Given the description of an element on the screen output the (x, y) to click on. 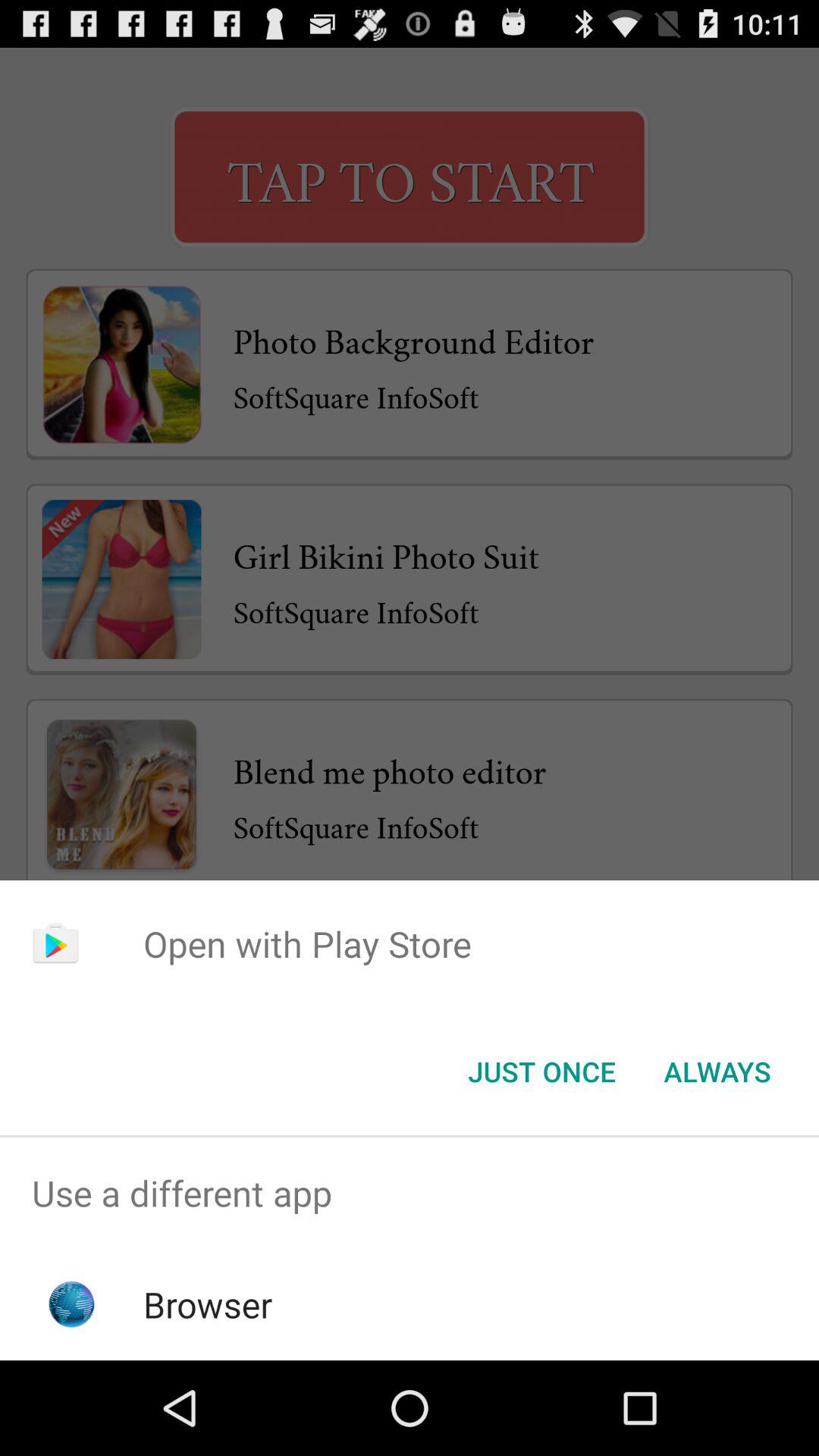
choose button next to just once item (717, 1071)
